Given the description of an element on the screen output the (x, y) to click on. 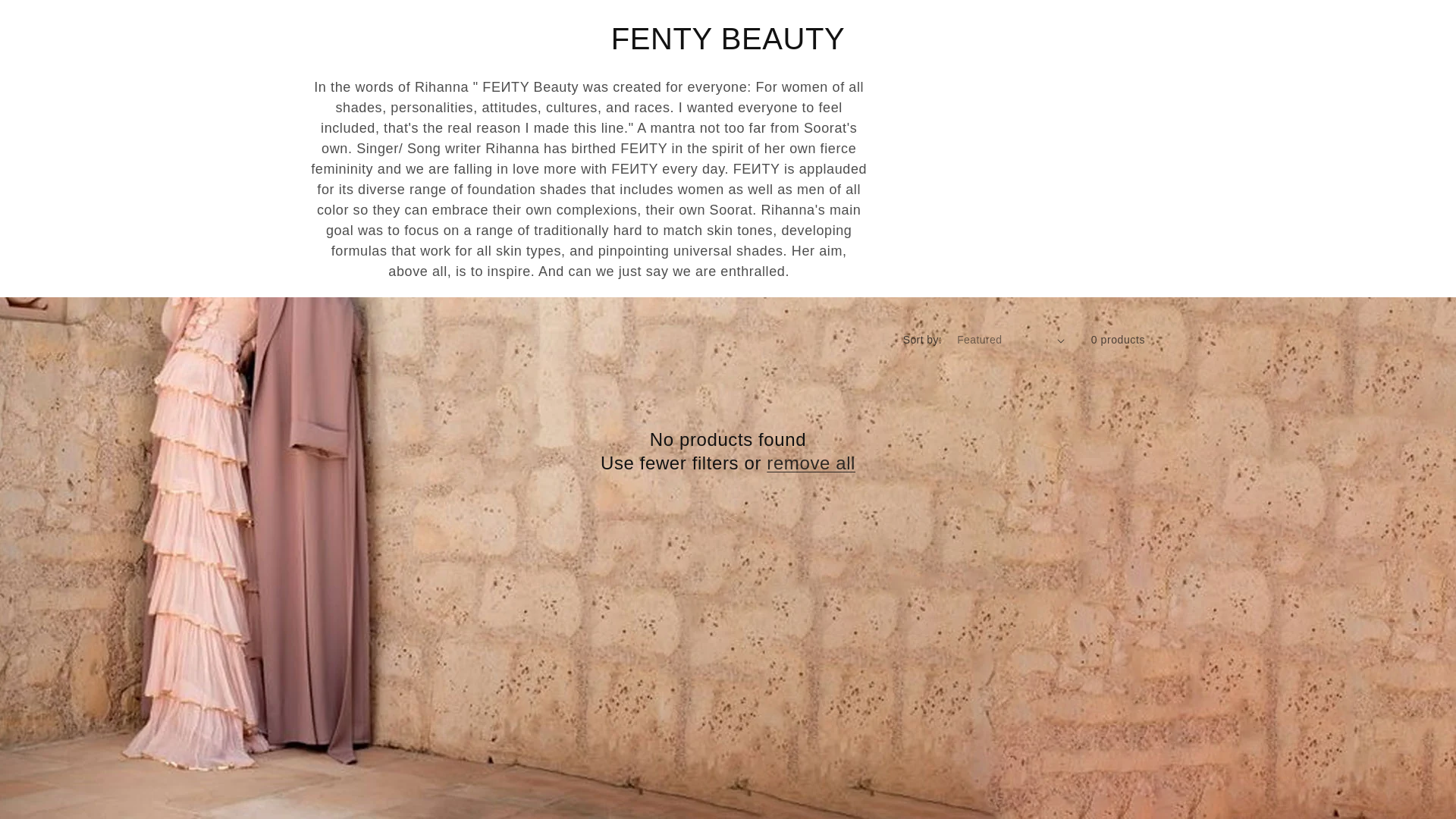
Skip to content (45, 17)
